Given the description of an element on the screen output the (x, y) to click on. 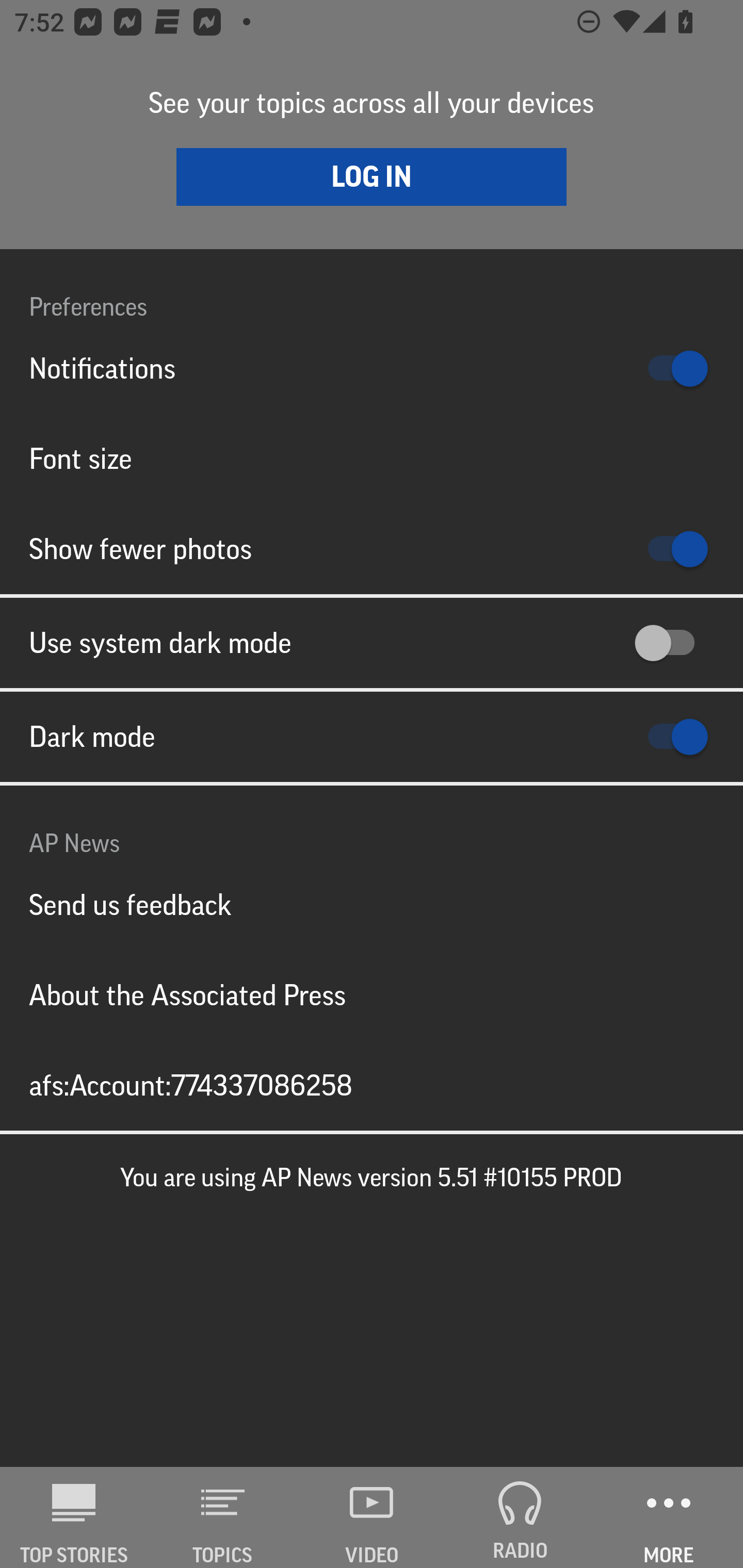
LOG IN (371, 176)
Notifications (371, 368)
Font size (371, 458)
Show fewer photos (371, 548)
Use system dark mode (371, 642)
Dark mode (371, 736)
Send us feedback (371, 904)
About the Associated Press (371, 994)
afs:Account:774337086258 (371, 1084)
AP News TOP STORIES (74, 1517)
TOPICS (222, 1517)
VIDEO (371, 1517)
RADIO (519, 1517)
MORE (668, 1517)
